Given the description of an element on the screen output the (x, y) to click on. 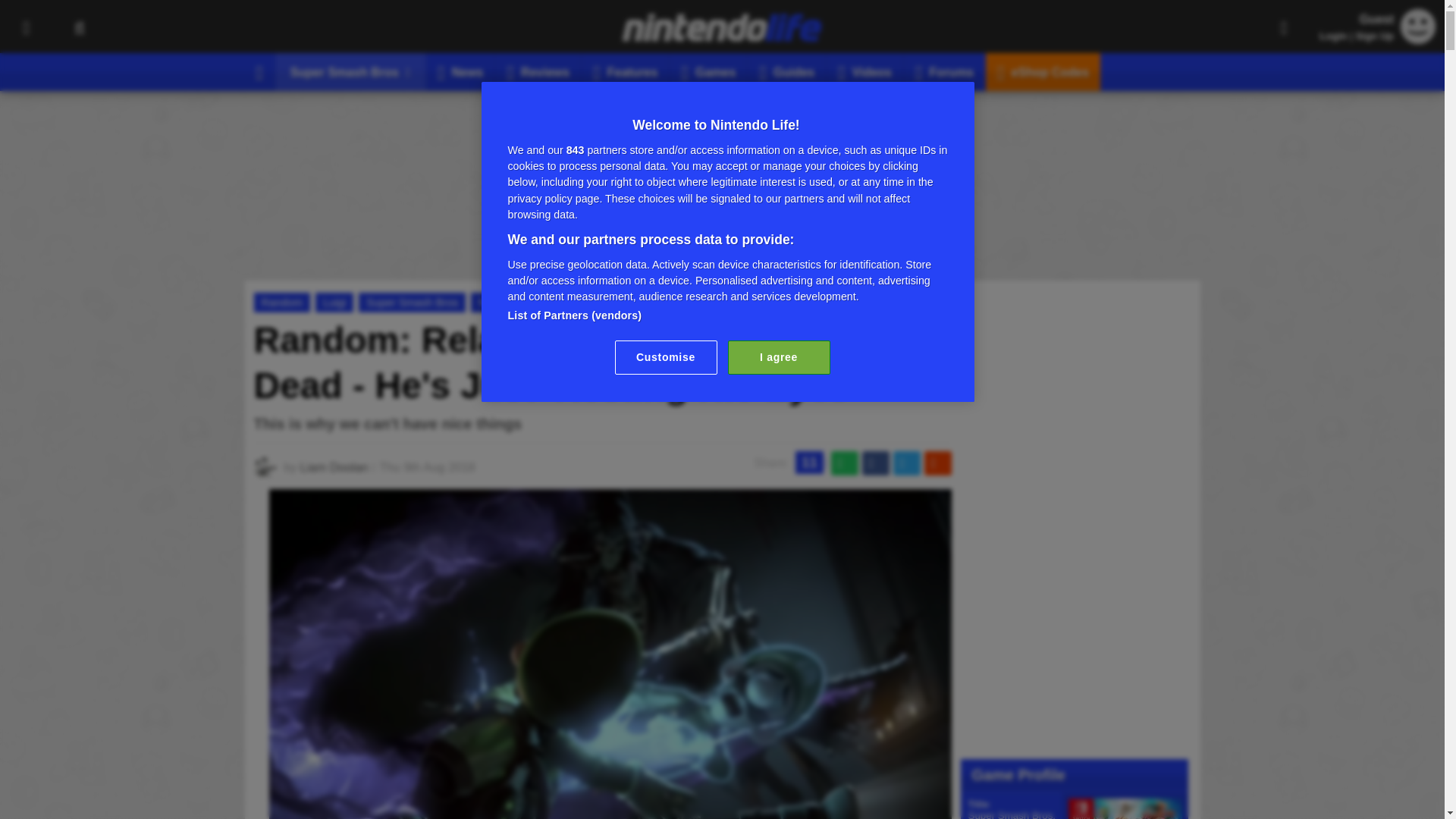
Forums (944, 71)
Share This Page (1283, 26)
Login (1332, 35)
Guides (787, 71)
Nintendo Life (721, 27)
Nintendo Life (721, 27)
Guest (1417, 39)
eShop Codes (1042, 71)
Search (79, 26)
Games (708, 71)
